Given the description of an element on the screen output the (x, y) to click on. 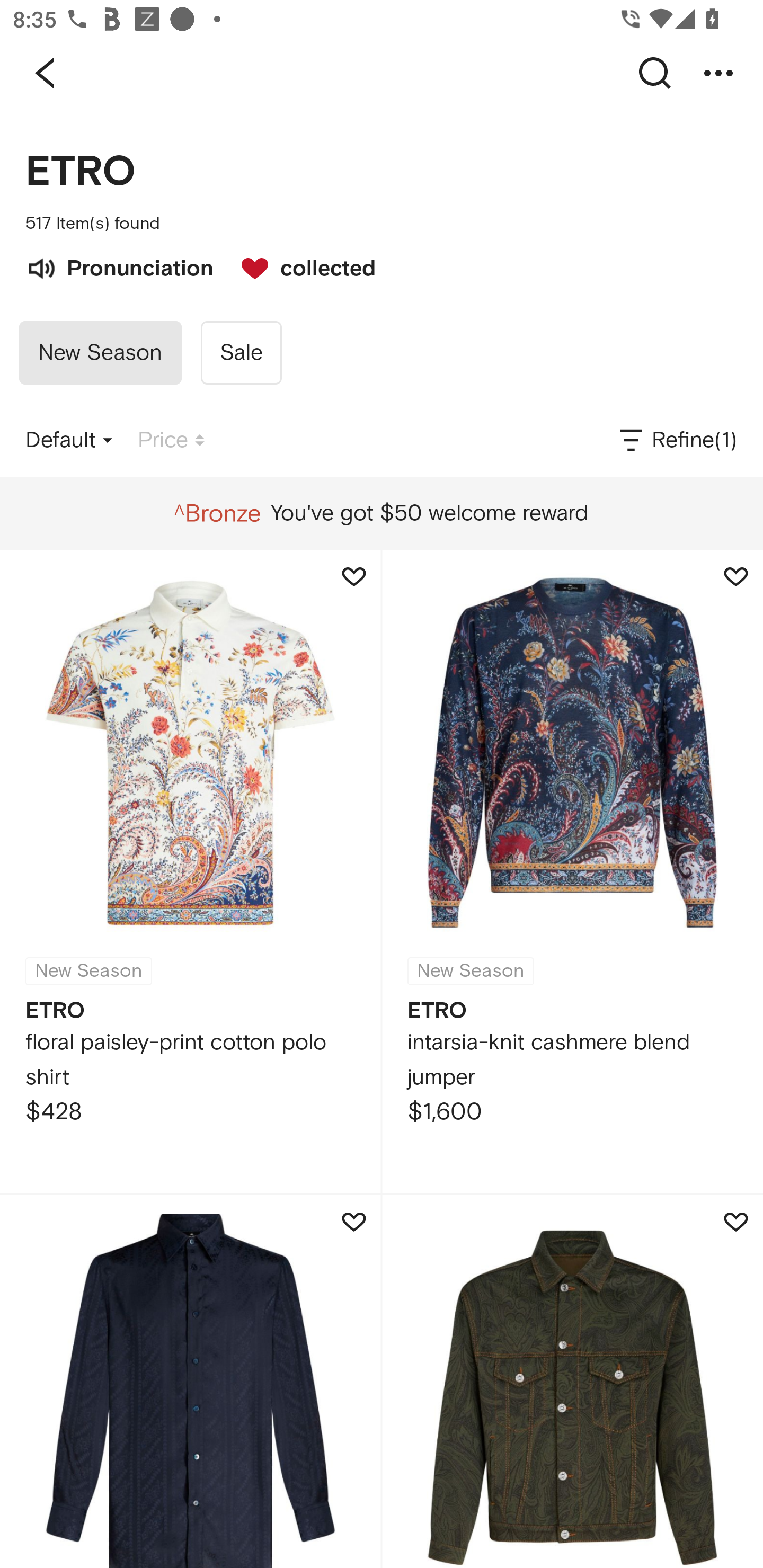
Pronunciation (119, 266)
collected (298, 266)
New Season (100, 352)
Sale (240, 352)
Default (68, 440)
Price (171, 440)
Refine(1) (677, 440)
You've got $50 welcome reward (381, 513)
